Given the description of an element on the screen output the (x, y) to click on. 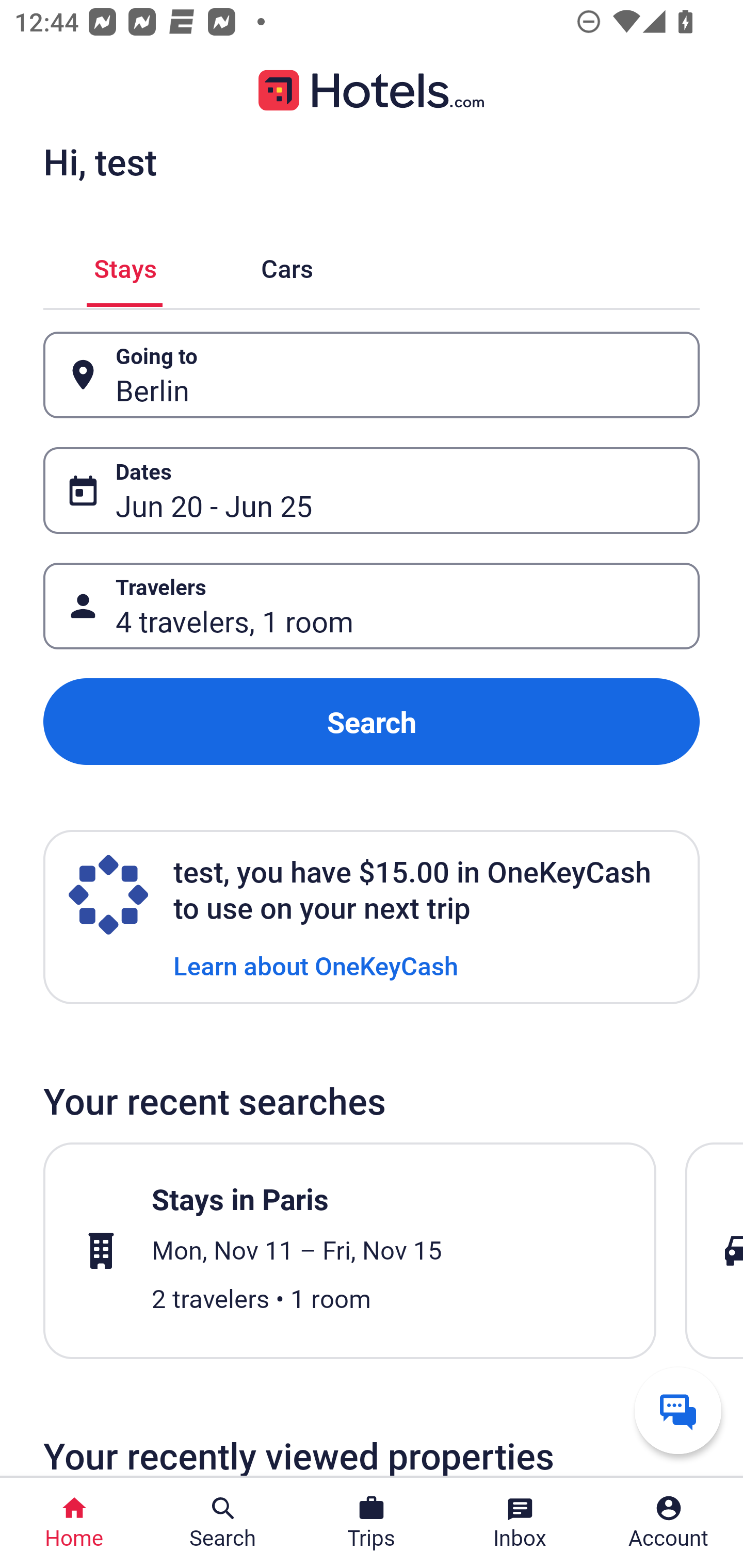
Hi, test (99, 161)
Cars (286, 265)
Going to Button Berlin (371, 375)
Dates Button Jun 20 - Jun 25 (371, 489)
Travelers Button 4 travelers, 1 room (371, 605)
Search (371, 721)
Learn about OneKeyCash Learn about OneKeyCash Link (315, 964)
Get help from a virtual agent (677, 1410)
Search Search Button (222, 1522)
Trips Trips Button (371, 1522)
Inbox Inbox Button (519, 1522)
Account Profile. Button (668, 1522)
